Given the description of an element on the screen output the (x, y) to click on. 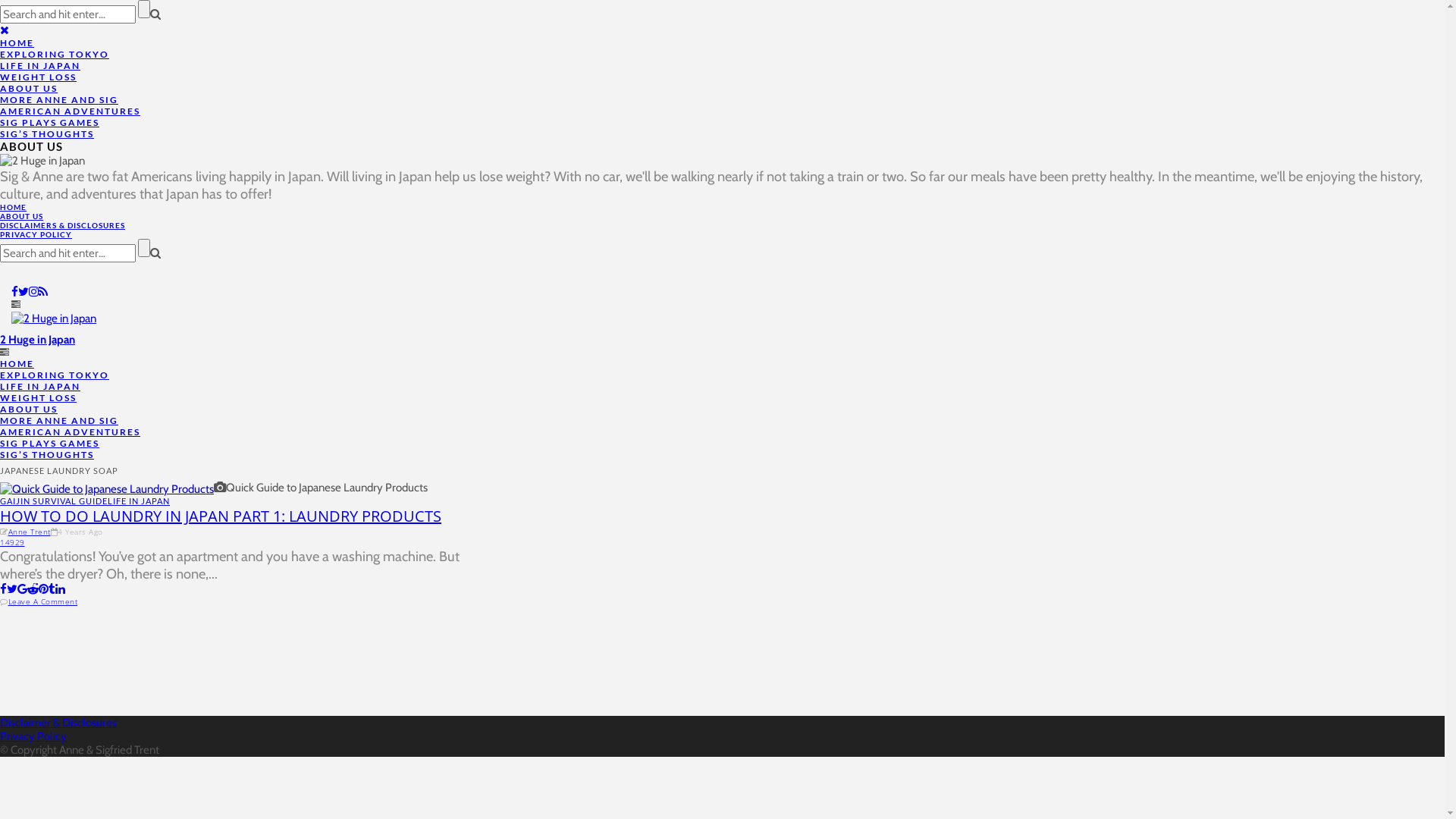
ABOUT US Element type: text (21, 215)
MORE ANNE AND SIG Element type: text (59, 420)
MORE ANNE AND SIG Element type: text (59, 99)
Twitter Element type: hover (23, 291)
HOME Element type: text (17, 42)
SIG PLAYS GAMES Element type: text (49, 122)
Instagram Element type: hover (33, 291)
HOW TO DO LAUNDRY IN JAPAN PART 1: LAUNDRY PRODUCTS Element type: text (220, 515)
Search for: Element type: hover (67, 14)
HOME Element type: text (13, 206)
WEIGHT LOSS Element type: text (38, 76)
HOME Element type: text (17, 363)
AMERICAN ADVENTURES Element type: text (70, 431)
SIG PLAYS GAMES Element type: text (49, 442)
Privacy Policy Element type: text (33, 736)
ABOUT US Element type: text (28, 408)
Search for: Element type: hover (67, 253)
ABOUT US Element type: text (28, 88)
LIFE IN JAPAN Element type: text (40, 65)
How to Do Laundry in Japan Part 1: Laundry Products Element type: hover (106, 487)
Leave A Comment Element type: text (42, 601)
GAIJIN SURVIVAL GUIDE Element type: text (53, 500)
LIFE IN JAPAN Element type: text (138, 500)
DISCLAIMERS & DISCLOSURES Element type: text (62, 224)
WEIGHT LOSS Element type: text (38, 397)
2 Huge in Japan Element type: text (37, 339)
LIFE IN JAPAN Element type: text (40, 386)
Facebook Element type: hover (14, 291)
PRIVACY POLICY Element type: text (36, 233)
Anne Trent Element type: text (28, 531)
AMERICAN ADVENTURES Element type: text (70, 110)
Disclaimer & Disclosures Element type: text (58, 722)
Rss Element type: hover (42, 291)
14929 Element type: text (12, 541)
EXPLORING TOKYO Element type: text (54, 374)
EXPLORING TOKYO Element type: text (54, 53)
